Given the description of an element on the screen output the (x, y) to click on. 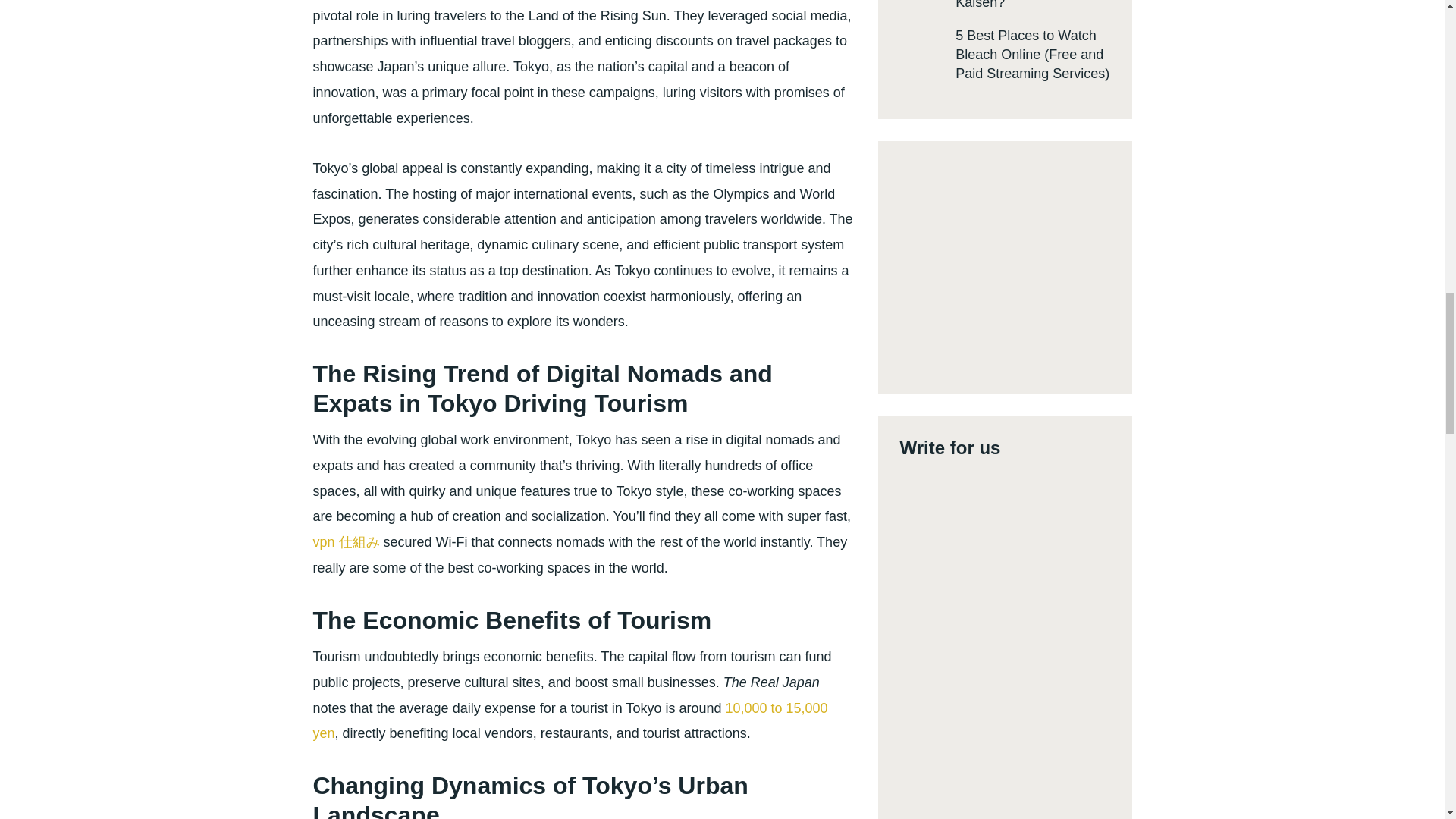
Who is Sukuna in Jujutsu Kaisen? (1031, 4)
10,000 to 15,000 yen (570, 721)
